Given the description of an element on the screen output the (x, y) to click on. 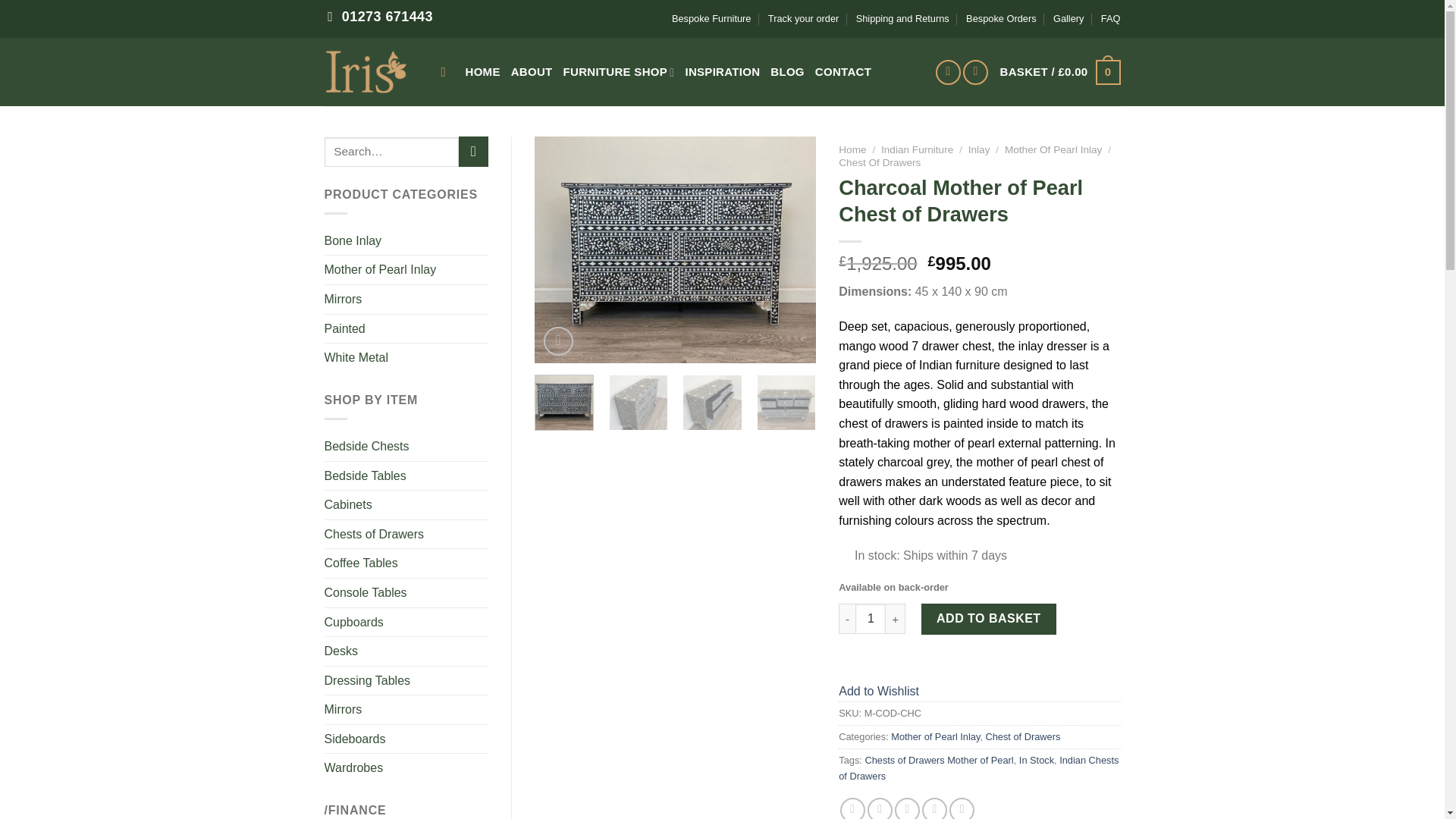
INSPIRATION (722, 71)
Basket (1060, 71)
ABOUT (532, 71)
Track your order (803, 18)
Follow on Facebook (948, 72)
Bespoke Orders (1000, 18)
Charcoal-MOP-7d-open-2 (711, 404)
Follow on Twitter (975, 72)
HOME (482, 71)
01273 671443 (381, 18)
Contact us today (381, 18)
1 (870, 618)
BLOG (787, 71)
Bespoke Furniture (711, 18)
Shipping and Returns (902, 18)
